Given the description of an element on the screen output the (x, y) to click on. 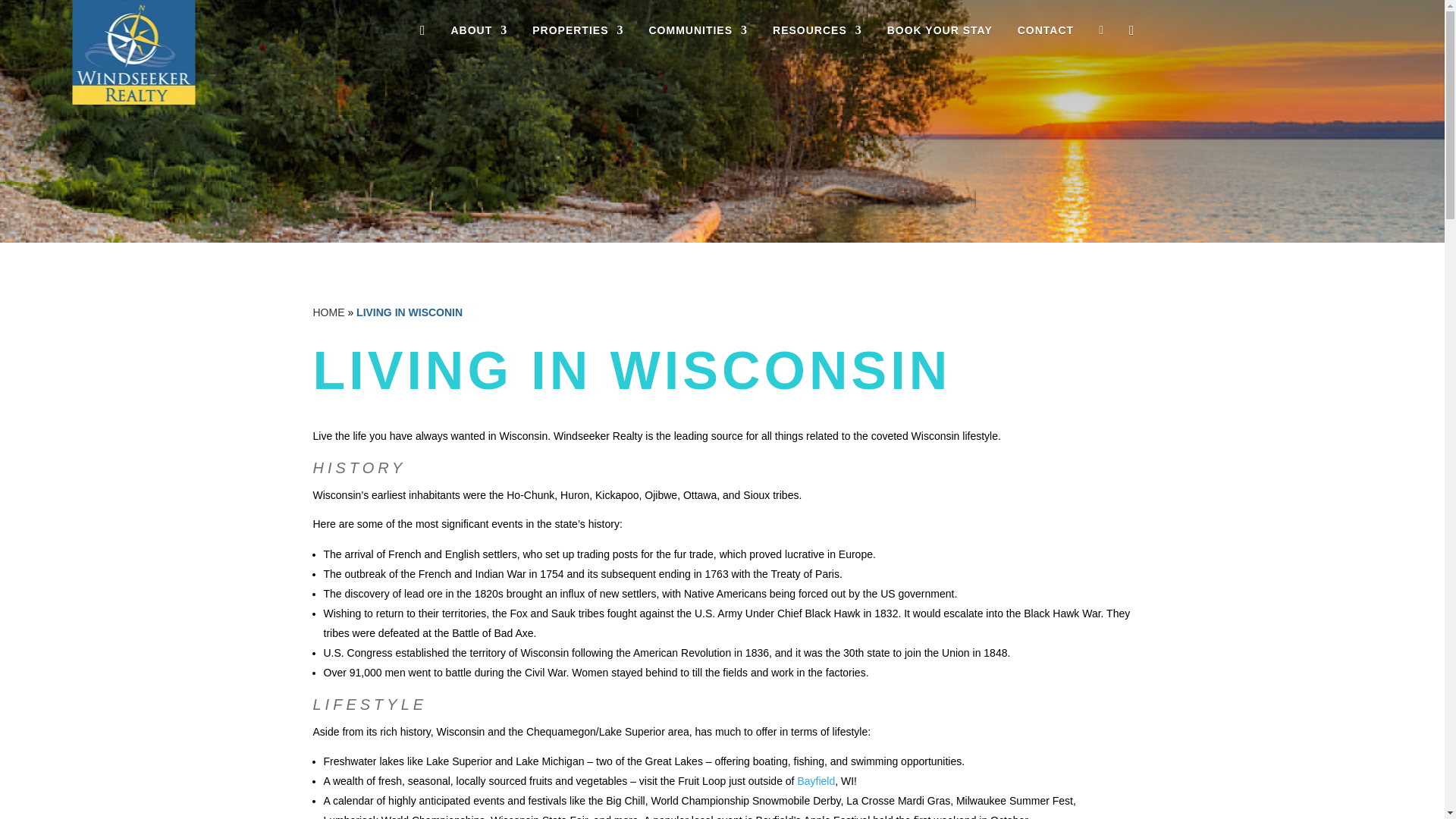
BOOK YOUR STAY (939, 33)
RESOURCES (817, 33)
ABOUT (477, 33)
PROPERTIES (577, 33)
COMMUNITIES (697, 33)
logo (133, 52)
CONTACT (1045, 33)
